Given the description of an element on the screen output the (x, y) to click on. 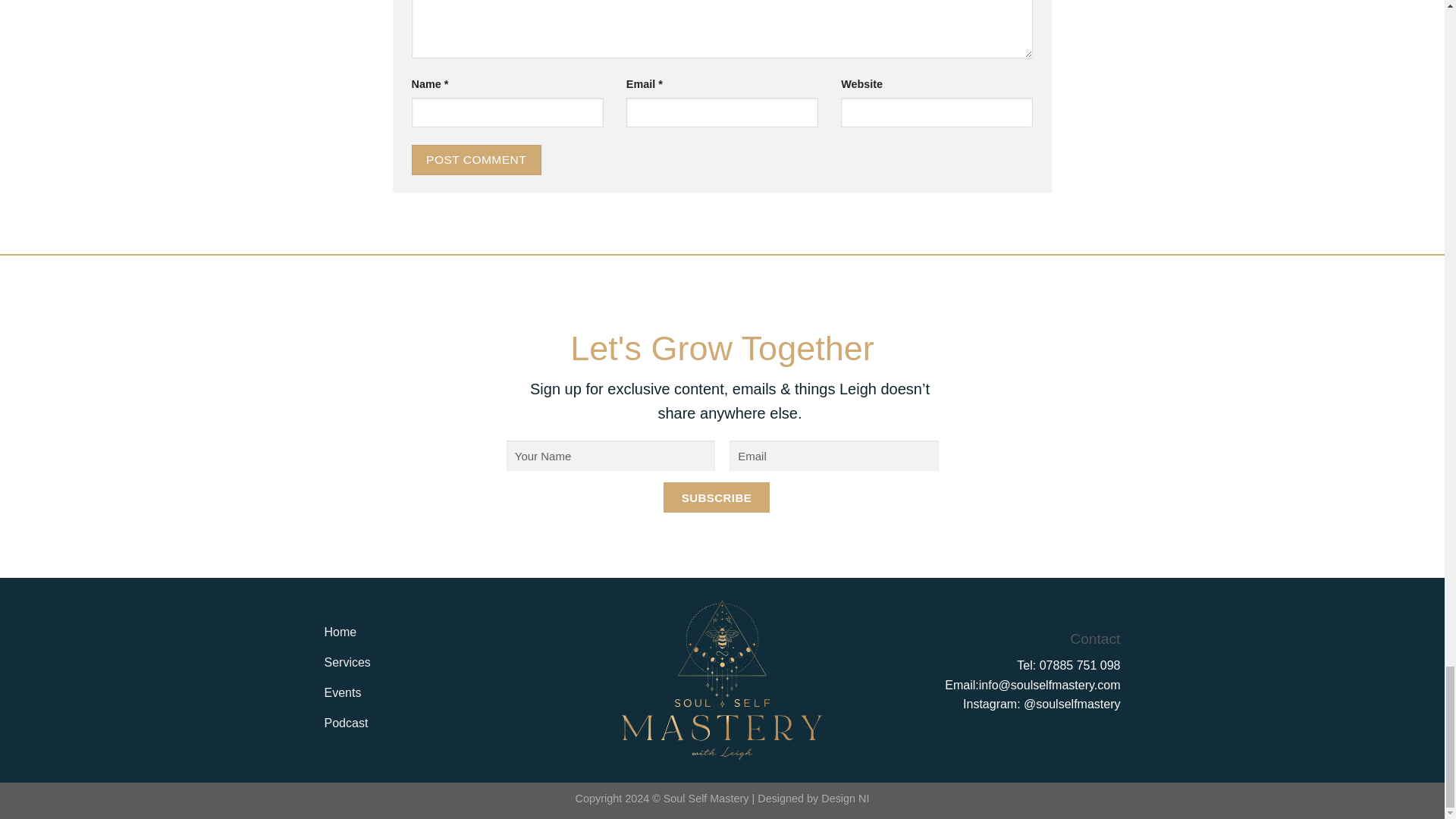
Post Comment (475, 159)
